Given the description of an element on the screen output the (x, y) to click on. 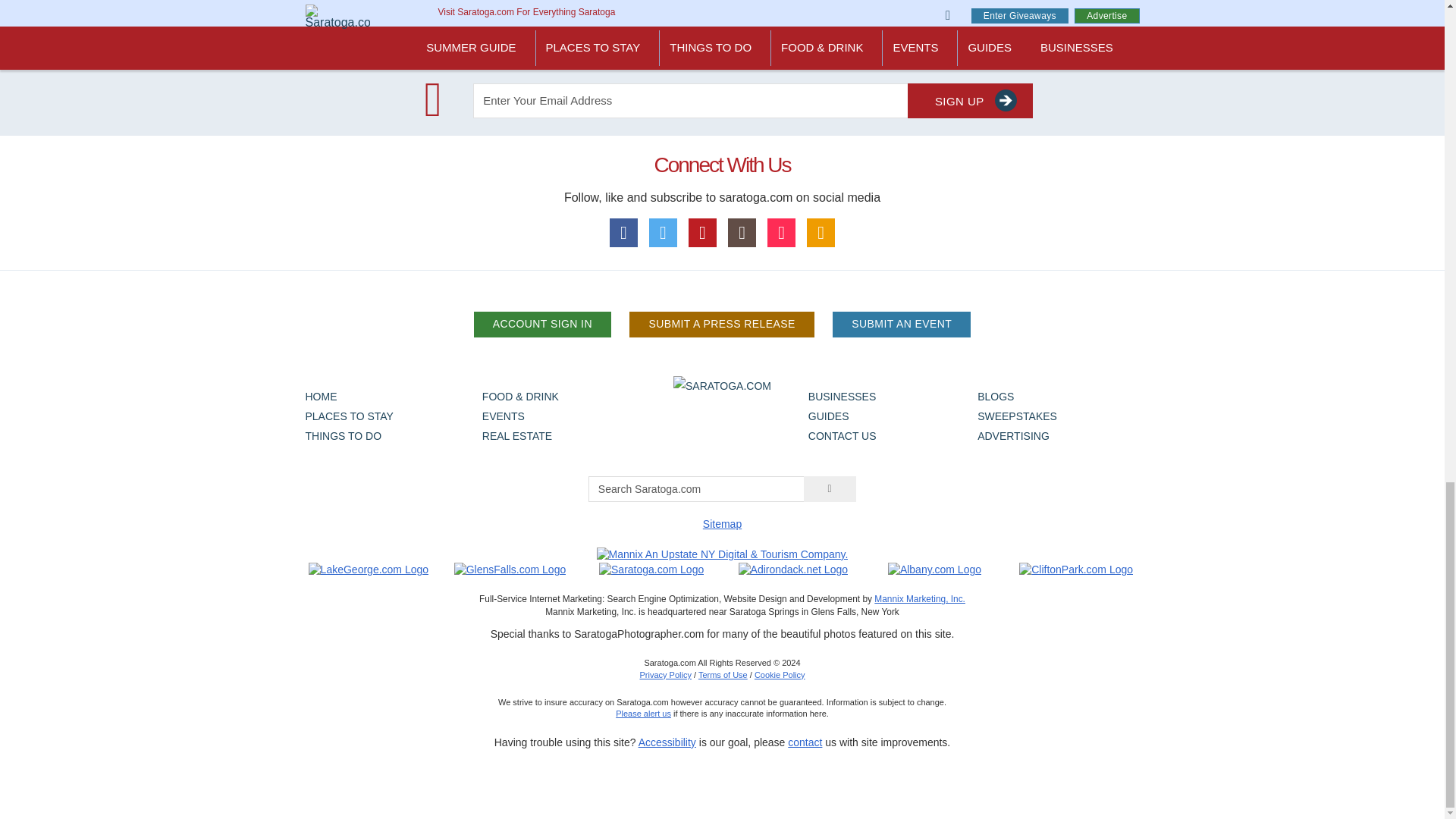
X (663, 231)
Opens in a new window (792, 569)
Opens in a new window (934, 569)
TikTok (781, 231)
Pinterest (702, 231)
Instagram (742, 231)
Opens in a new window (1075, 569)
My Planner (820, 231)
Opens in a new window (510, 569)
Opens in a new window (368, 569)
Facebook (624, 231)
